Given the description of an element on the screen output the (x, y) to click on. 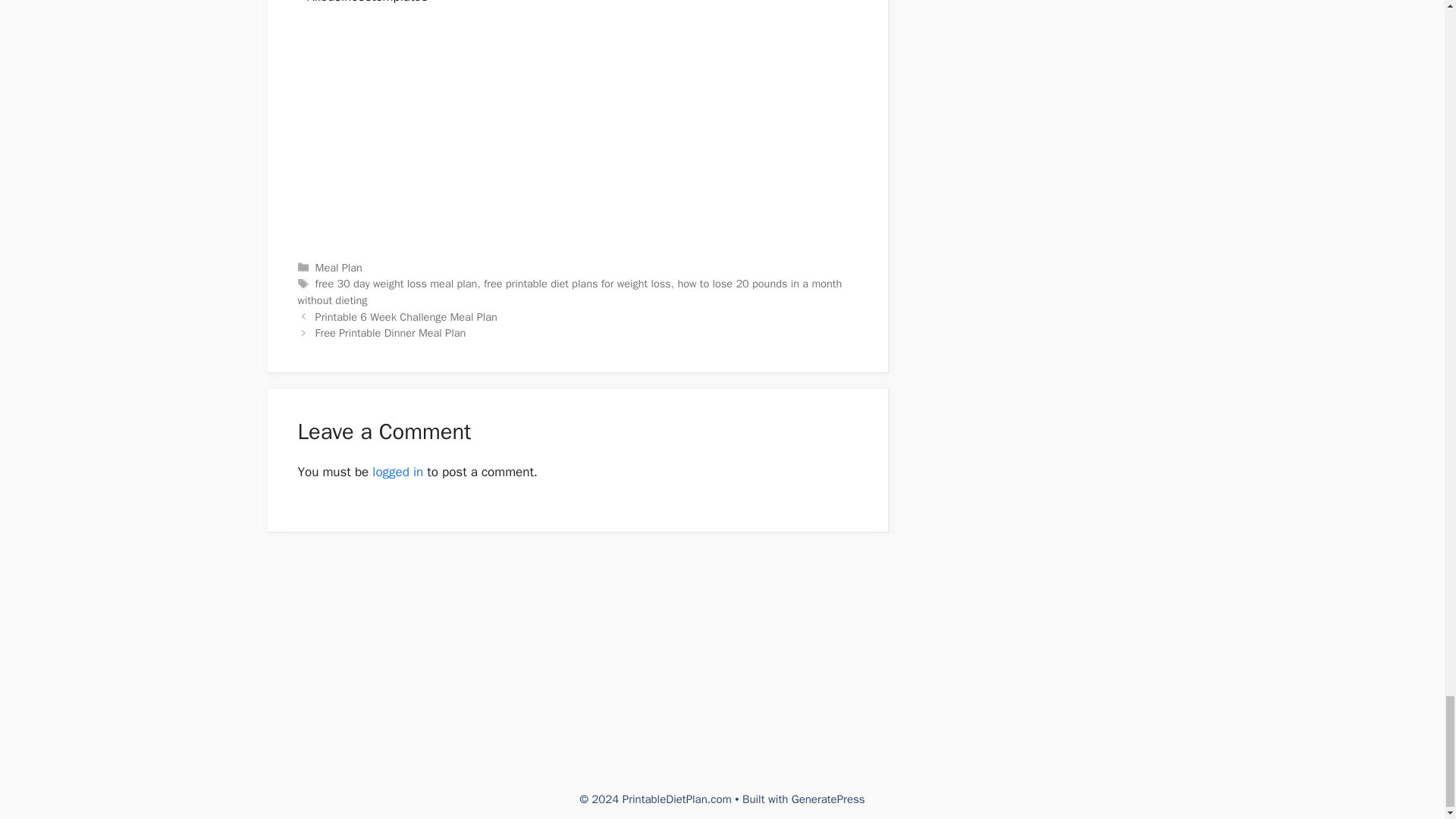
Meal Plan (338, 267)
Free Printable Dinner Meal Plan (390, 332)
free 30 day weight loss meal plan (396, 283)
how to lose 20 pounds in a month without dieting (569, 291)
Printable 6 Week Challenge Meal Plan (406, 316)
logged in (397, 471)
free printable diet plans for weight loss (577, 283)
